Given the description of an element on the screen output the (x, y) to click on. 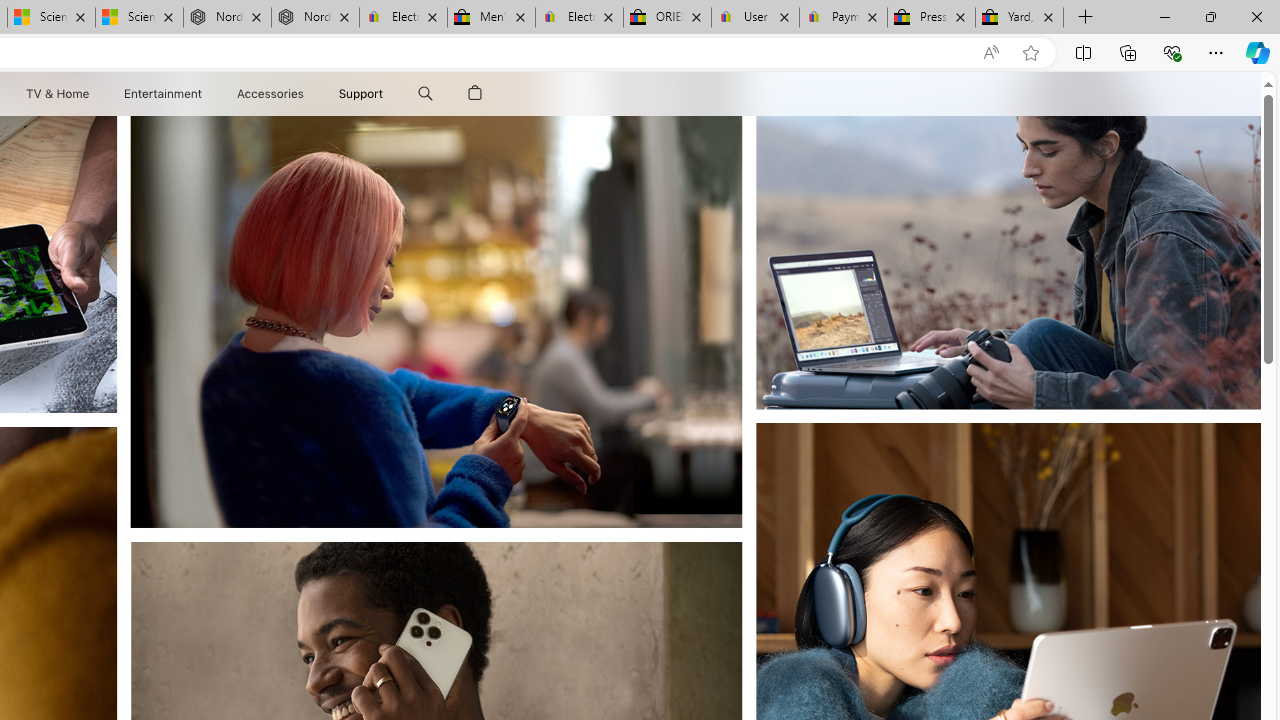
Class: globalnav-submenu-trigger-item (387, 93)
Support menu (387, 93)
Payments Terms of Use | eBay.com (843, 17)
TV & Home (56, 93)
Support (361, 93)
Entertainment (162, 93)
Yard, Garden & Outdoor Living (1019, 17)
Accessories menu (306, 93)
Support (361, 93)
